Given the description of an element on the screen output the (x, y) to click on. 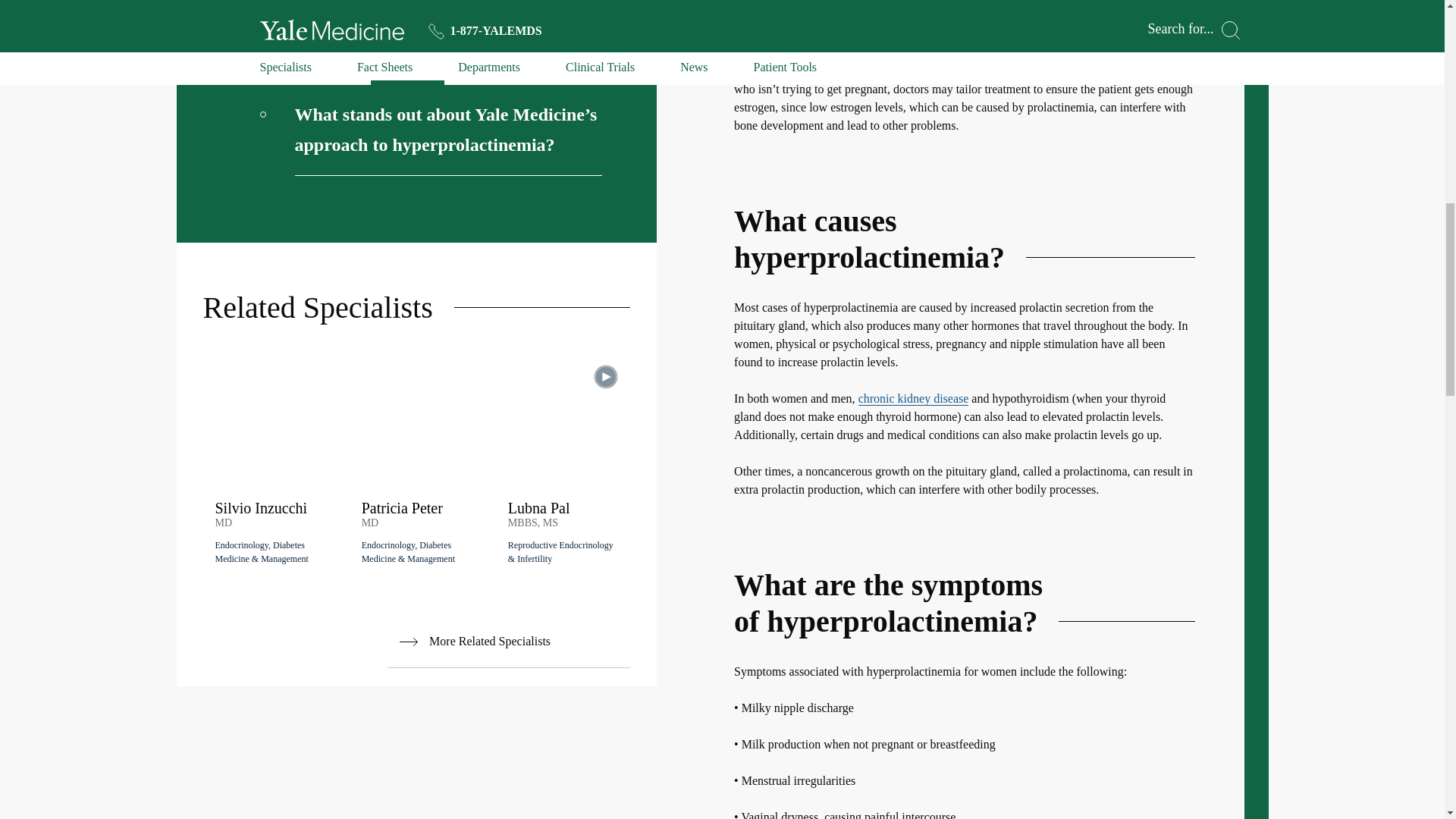
How is hyperprolactinemia treated? (430, 53)
chronic kidney disease (914, 398)
More Related Specialists (508, 641)
How is hyperprolactinemia diagnosed? (430, 11)
